Given the description of an element on the screen output the (x, y) to click on. 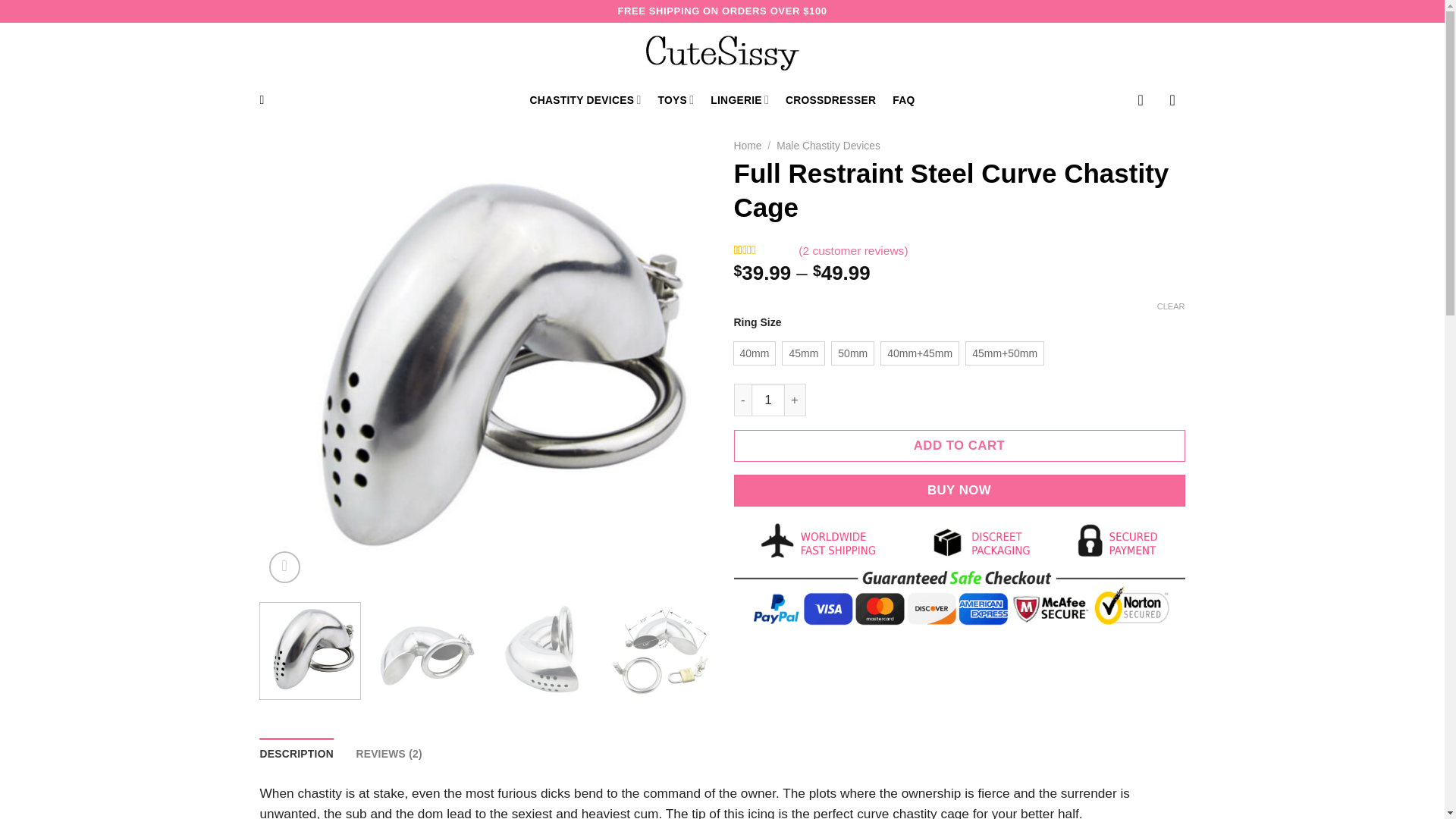
50mm (852, 353)
CROSSDRESSER (831, 100)
Zoom (283, 567)
1 (767, 400)
40mm (754, 353)
LINGERIE (739, 100)
TOYS (676, 100)
45mm (803, 353)
CHASTITY DEVICES (584, 100)
Home (747, 145)
